Given the description of an element on the screen output the (x, y) to click on. 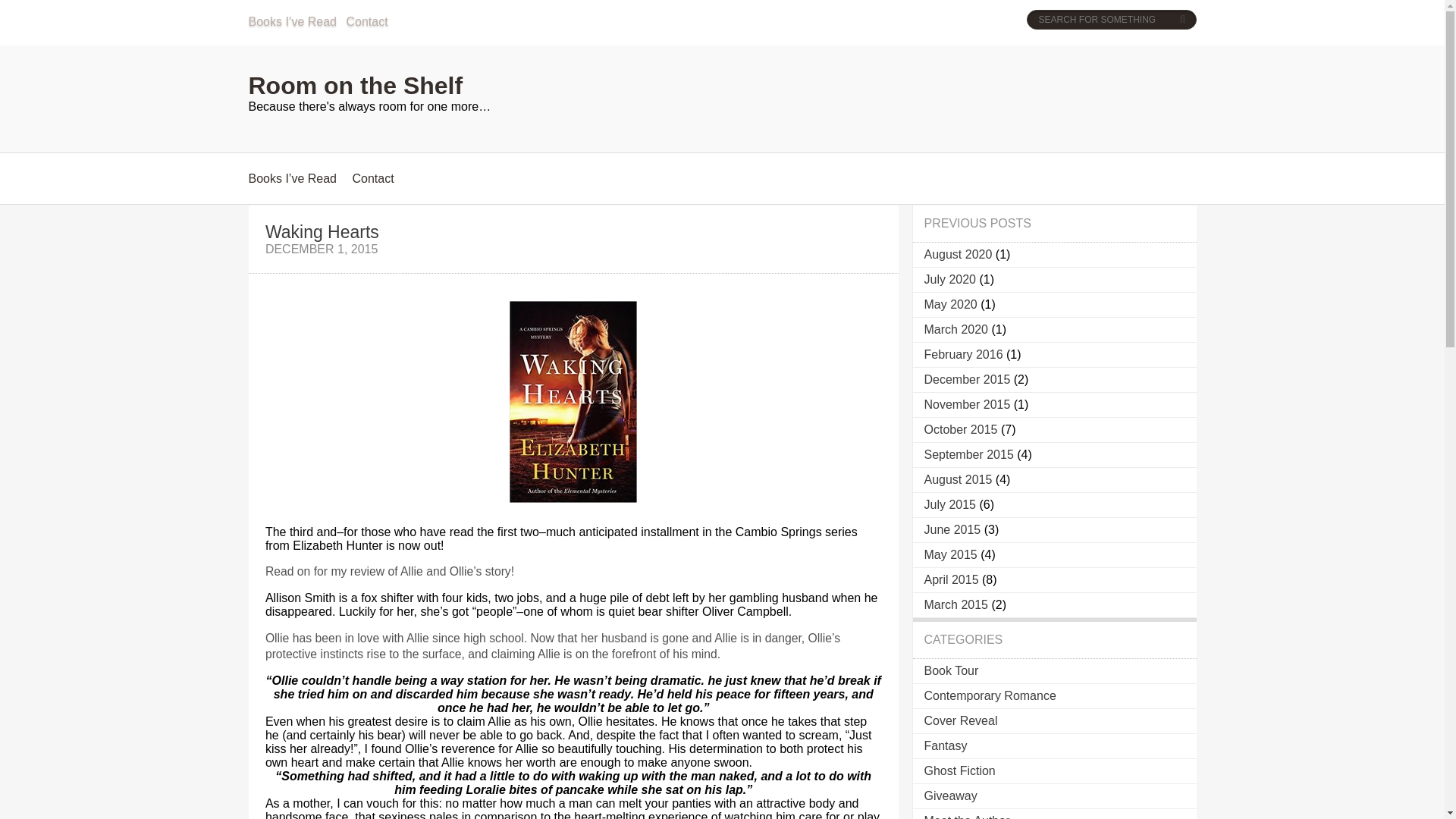
May 2020 (949, 304)
Fantasy (944, 745)
Contact (366, 21)
Contact (372, 178)
Book Tour (950, 670)
August 2020 (957, 254)
May 2015 (949, 554)
February 2016 (963, 354)
April 2015 (950, 579)
Meet the Author (966, 816)
